Given the description of an element on the screen output the (x, y) to click on. 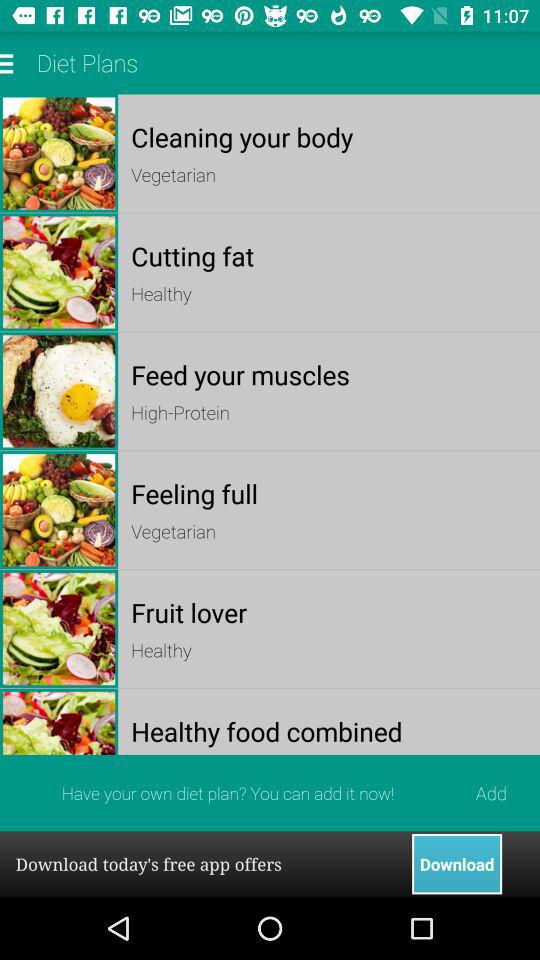
turn on healthy food combined icon (328, 730)
